Given the description of an element on the screen output the (x, y) to click on. 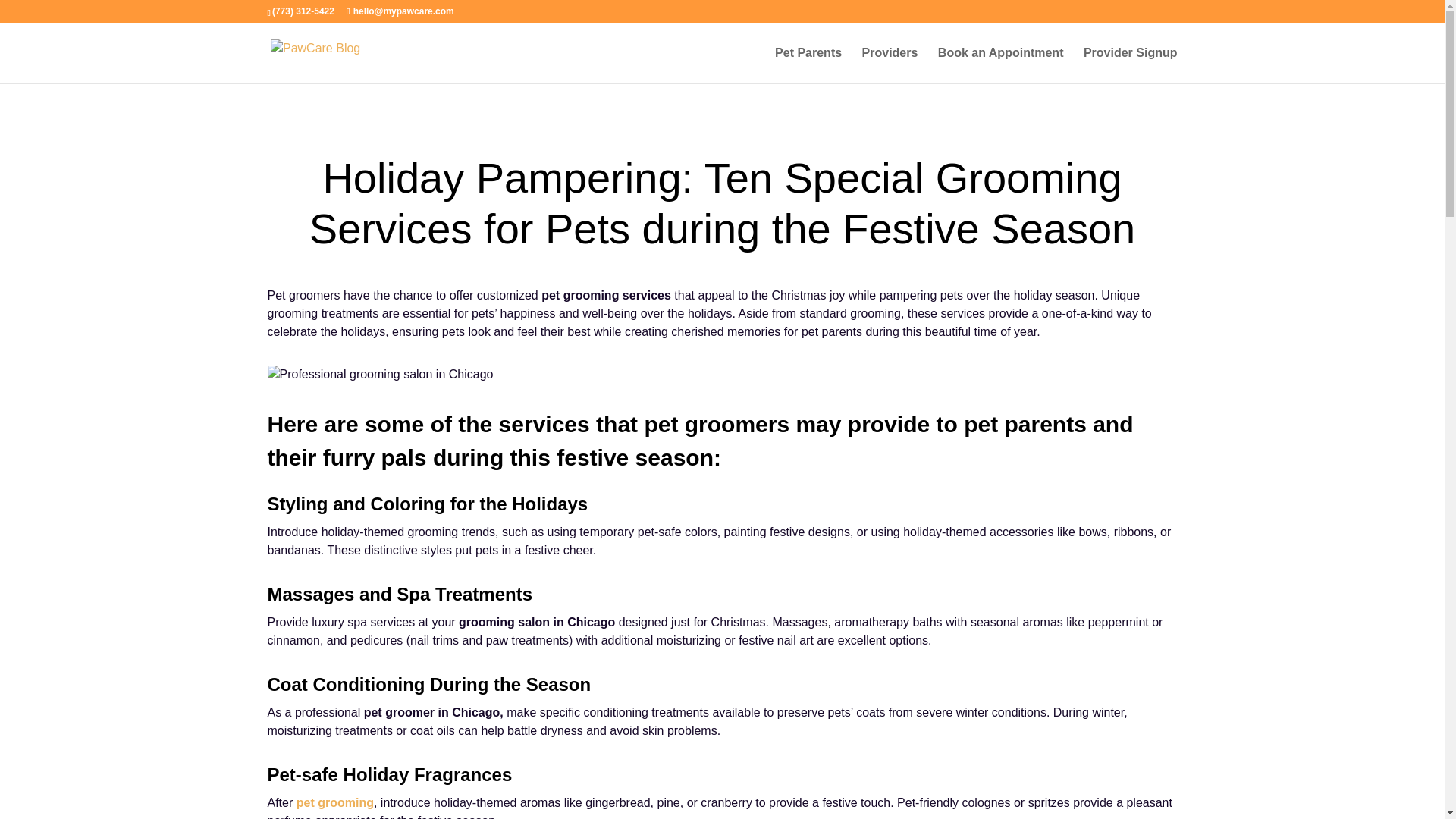
pet grooming (335, 802)
Provider Signup (1130, 65)
Book an Appointment (1000, 65)
Pet Parents (807, 65)
Providers (889, 65)
